Given the description of an element on the screen output the (x, y) to click on. 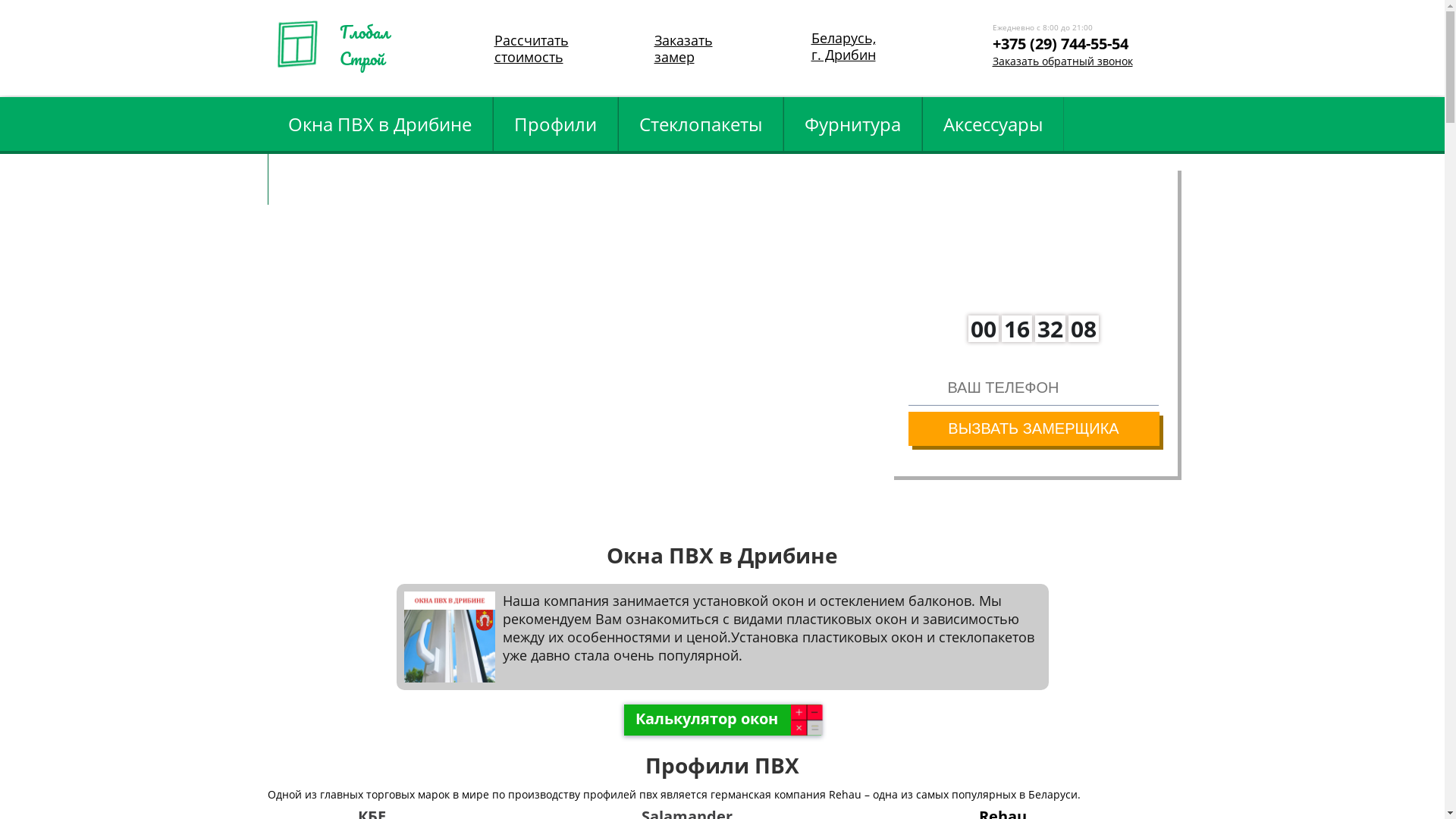
Prev Element type: text (41, 343)
Next Element type: text (1402, 343)
+375 (29) 744-55-54 Element type: text (1068, 57)
